Given the description of an element on the screen output the (x, y) to click on. 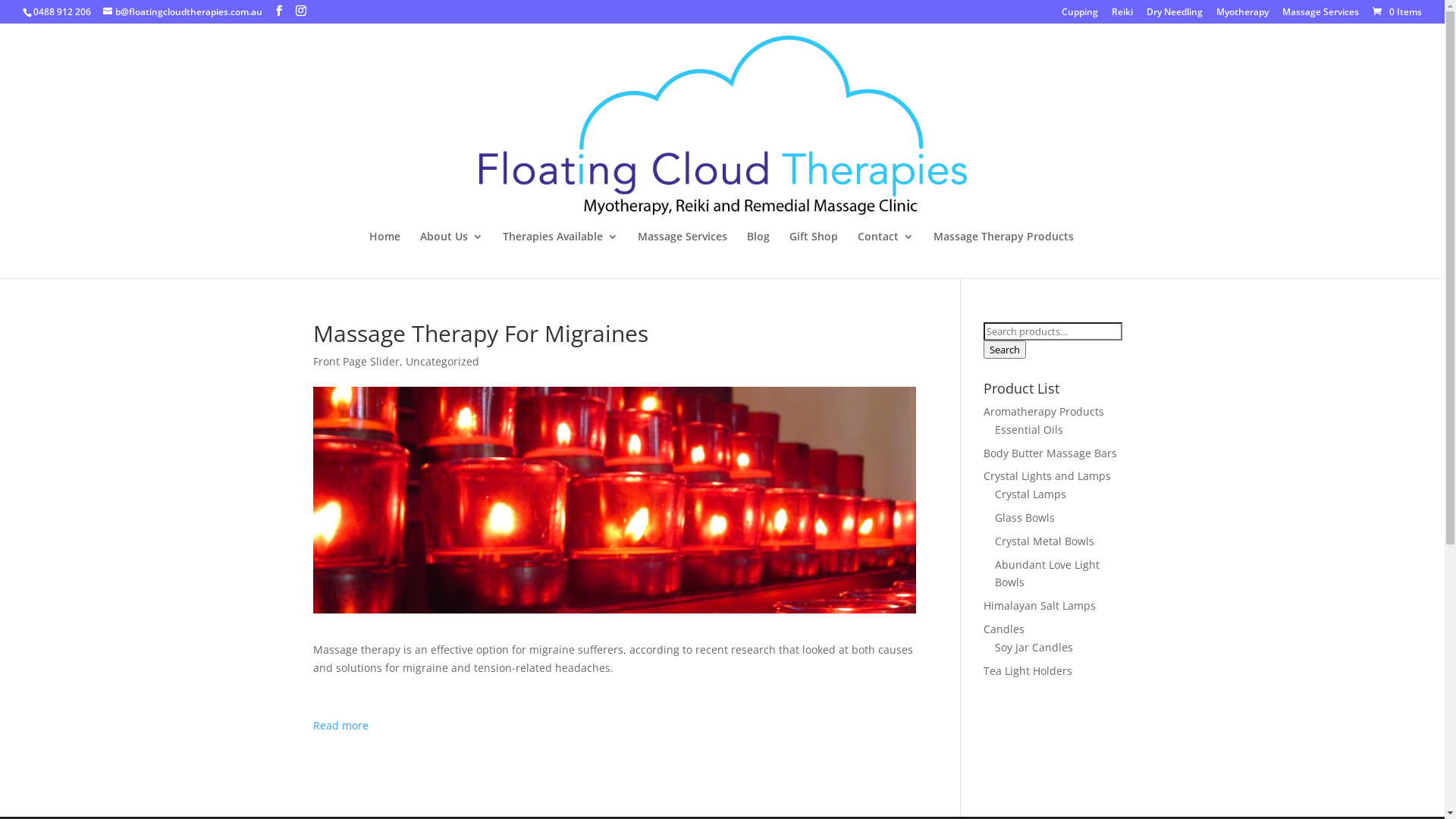
Read more Element type: text (339, 725)
Therapies Available Element type: text (560, 254)
Tea Light Holders Element type: text (1027, 670)
0488 912 206 Element type: text (61, 11)
Contact Element type: text (885, 254)
0 Items Element type: text (1395, 11)
Body Butter Massage Bars Element type: text (1050, 452)
Abundant Love Light Bowls Element type: text (1046, 573)
Crystal Lamps Element type: text (1030, 493)
Myotherapy Element type: text (1242, 15)
Gift Shop Element type: text (813, 254)
Crystal Lights and Lamps Element type: text (1046, 475)
Candles Element type: text (1003, 628)
Blog Element type: text (757, 254)
b@floatingcloudtherapies.com.au Element type: text (182, 11)
Glass Bowls Element type: text (1024, 517)
Massage Therapy Products Element type: text (1003, 254)
Front Page Slider Element type: text (355, 361)
Reiki Element type: text (1121, 15)
Massage Services Element type: text (682, 254)
Crystal Metal Bowls Element type: text (1044, 540)
Search Element type: text (1004, 349)
Cupping Element type: text (1079, 15)
Essential Oils Element type: text (1028, 429)
Himalayan Salt Lamps Element type: text (1039, 605)
About Us Element type: text (451, 254)
Aromatherapy Products Element type: text (1043, 411)
Uncategorized Element type: text (441, 361)
Dry Needling Element type: text (1174, 15)
Home Element type: text (384, 254)
Massage Services Element type: text (1320, 15)
Soy Jar Candles Element type: text (1033, 647)
